Given the description of an element on the screen output the (x, y) to click on. 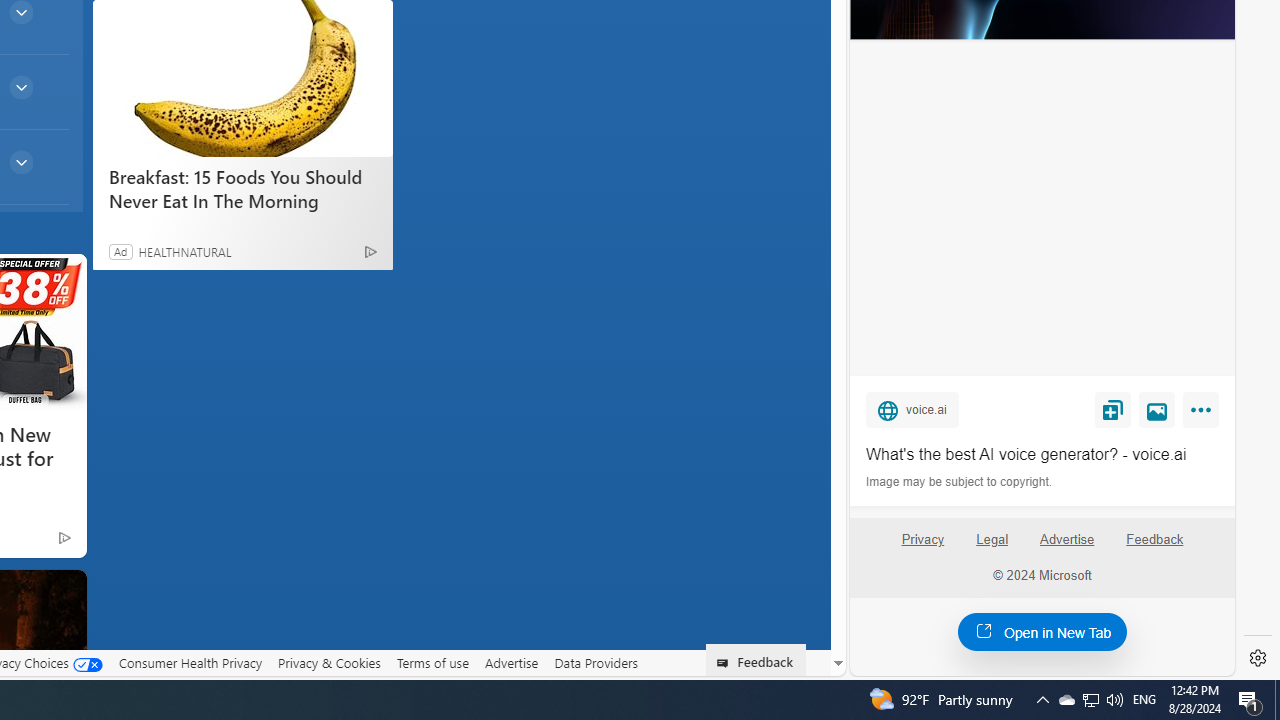
Settings (1258, 658)
Feedback (1154, 547)
Terms of use (431, 663)
Advertise (1066, 539)
Advertise (1067, 547)
Breakfast: 15 Foods You Should Never Eat In The Morning (242, 188)
Ad (120, 251)
Consumer Health Privacy (189, 662)
Data Providers (595, 663)
Consumer Health Privacy (189, 663)
Feedback (1155, 539)
Privacy & Cookies (329, 662)
Privacy & Cookies (329, 663)
Breakfast: 15 Foods You Should Never Eat In The Morning (242, 78)
Class: feedback_link_icon-DS-EntryPoint1-1 (726, 663)
